Given the description of an element on the screen output the (x, y) to click on. 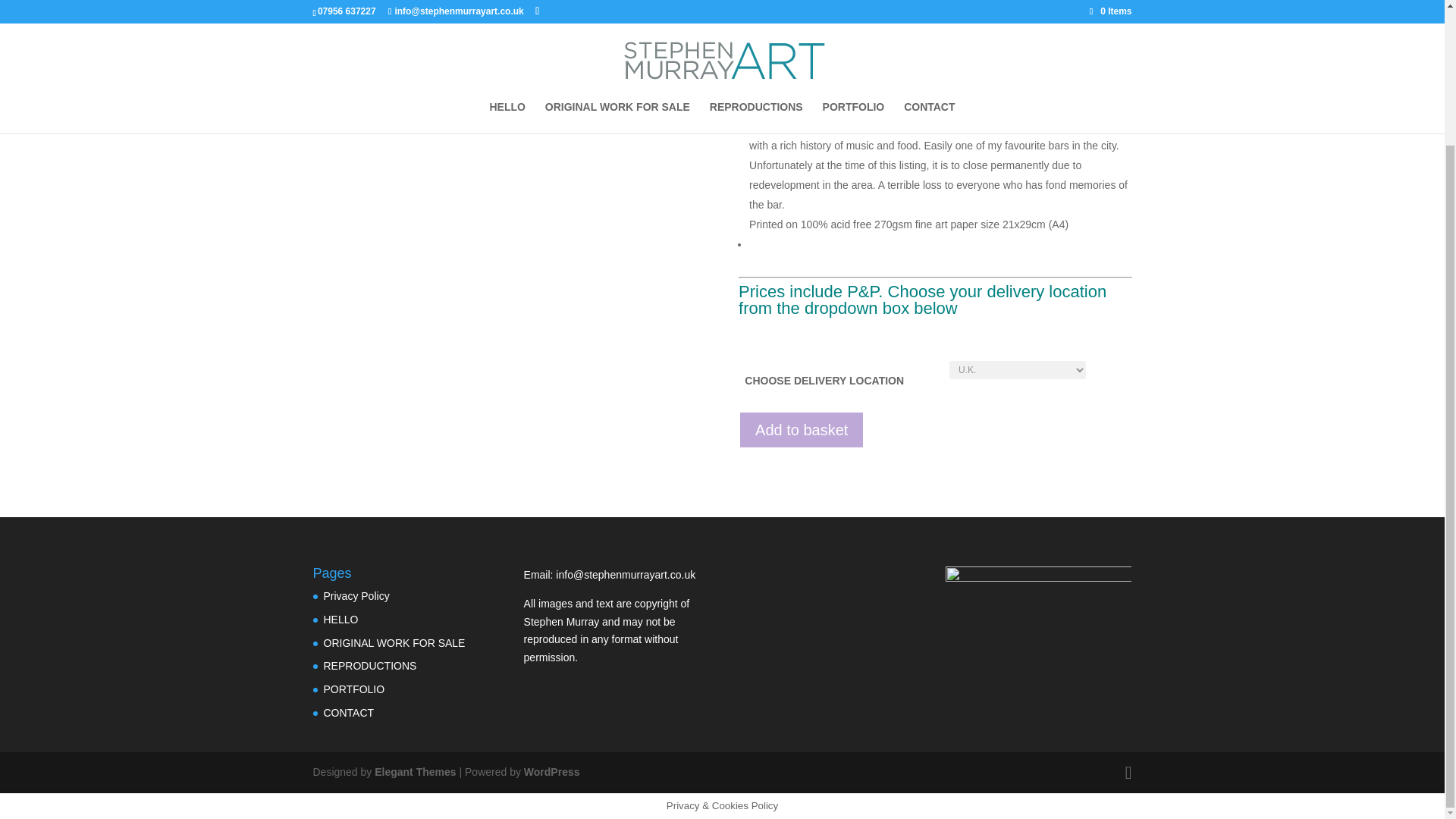
ORIGINAL WORK FOR SALE (393, 643)
PORTFOLIO (353, 689)
REPRODUCTIONS (369, 665)
Stephen Murray art (1038, 586)
Home (325, 20)
CONTACT (348, 712)
HELLO (340, 619)
Privacy Policy (355, 595)
Shop (358, 20)
Premium WordPress Themes (414, 771)
